Given the description of an element on the screen output the (x, y) to click on. 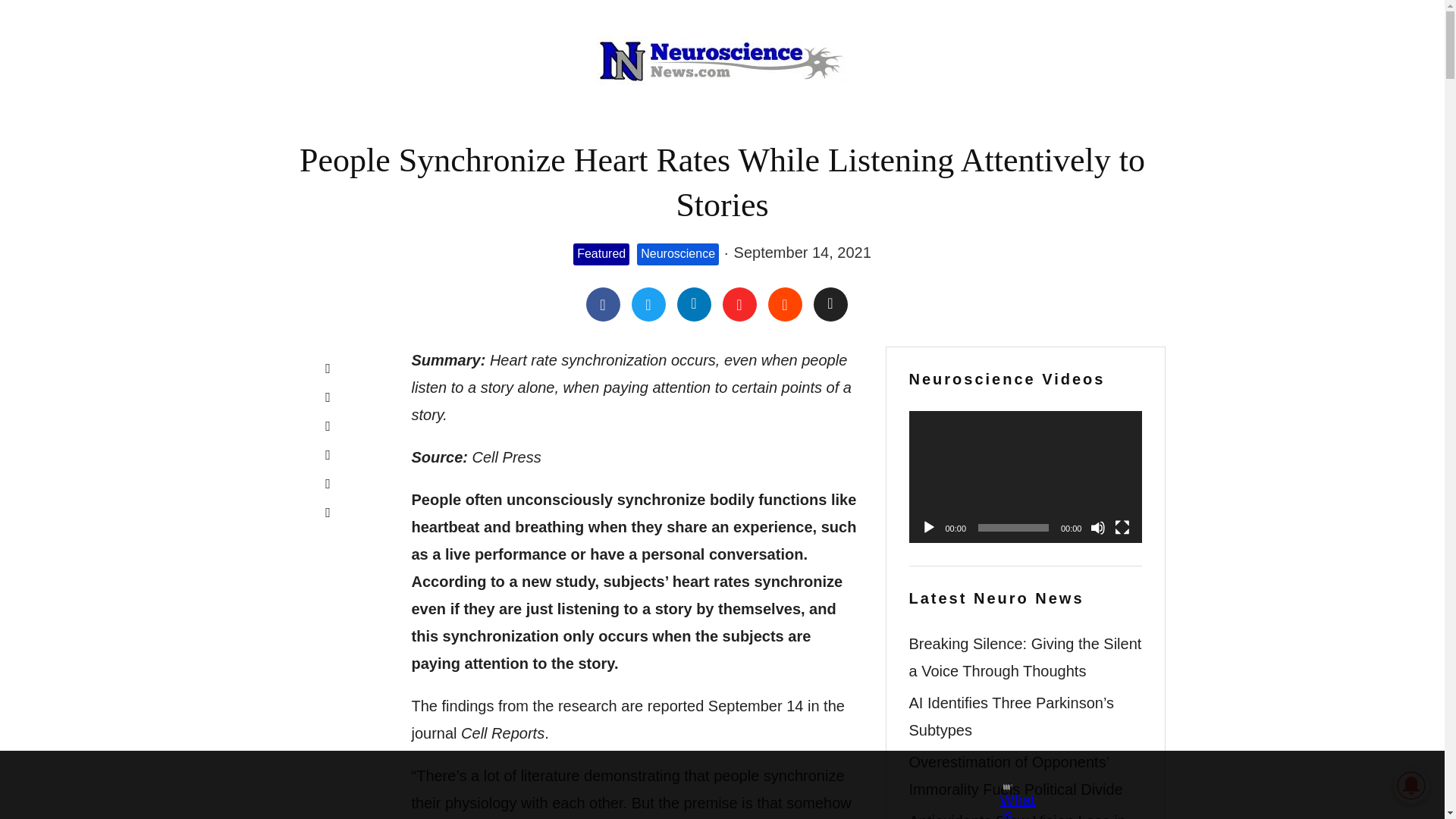
Featured (600, 254)
Mute (1097, 527)
Play (928, 527)
Neuroscience (678, 254)
Fullscreen (1122, 527)
